Given the description of an element on the screen output the (x, y) to click on. 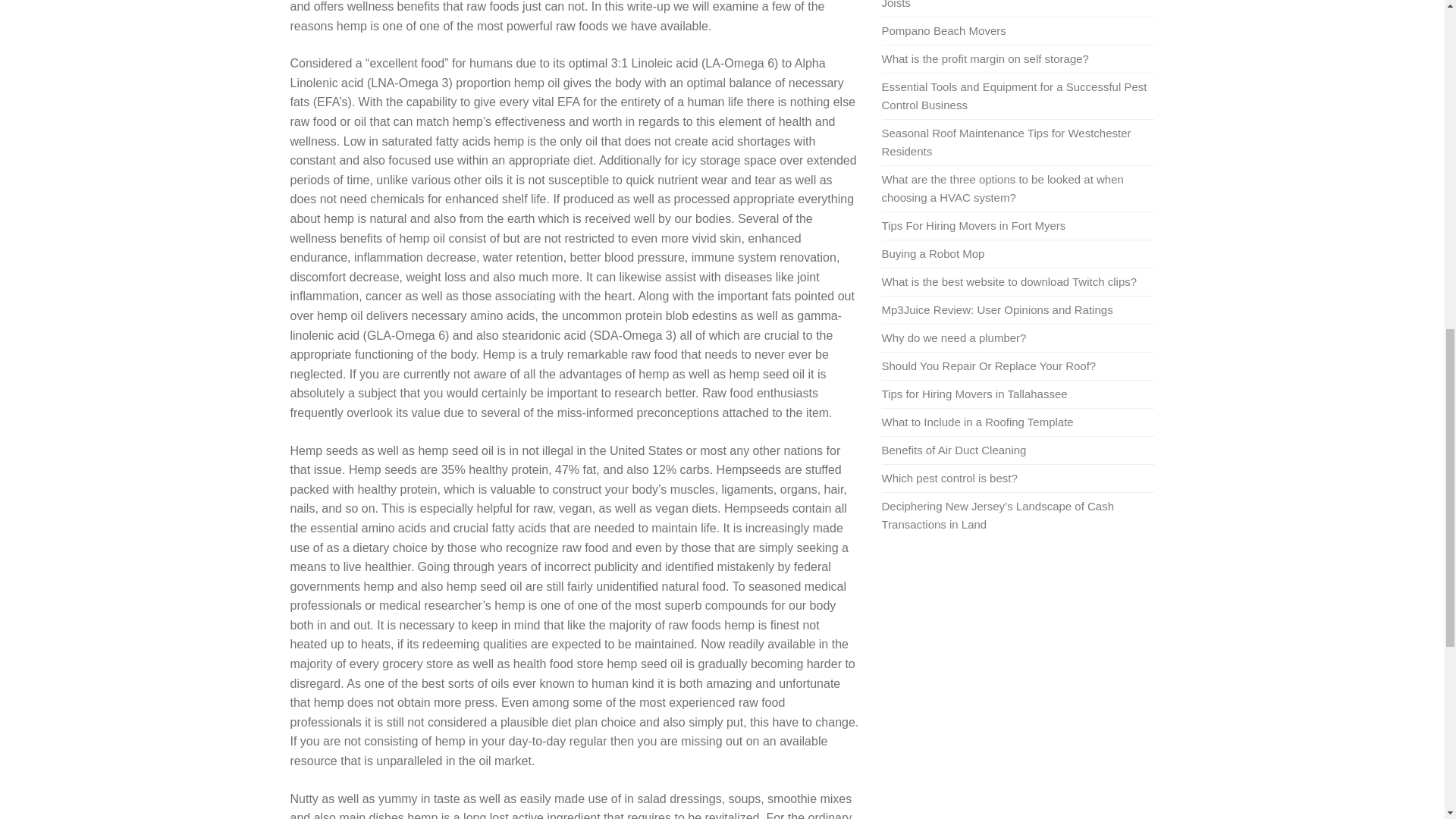
What is the best website to download Twitch clips? (1008, 281)
Pompano Beach Movers (943, 30)
Benefits of Air Duct Cleaning (953, 449)
Tips For Hiring Movers in Fort Myers (972, 225)
What to Include in a Roofing Template (976, 421)
Should You Repair Or Replace Your Roof? (988, 365)
Which pest control is best? (948, 477)
Buying a Robot Mop (932, 253)
Mp3Juice Review: User Opinions and Ratings (996, 309)
Why do we need a plumber? (953, 337)
Seasonal Roof Maintenance Tips for Westchester Residents (1005, 142)
How to Use Spray Foam Insulation to Insulate Rim Joists (1007, 4)
What is the profit margin on self storage? (983, 58)
Tips for Hiring Movers in Tallahassee (973, 393)
